Given the description of an element on the screen output the (x, y) to click on. 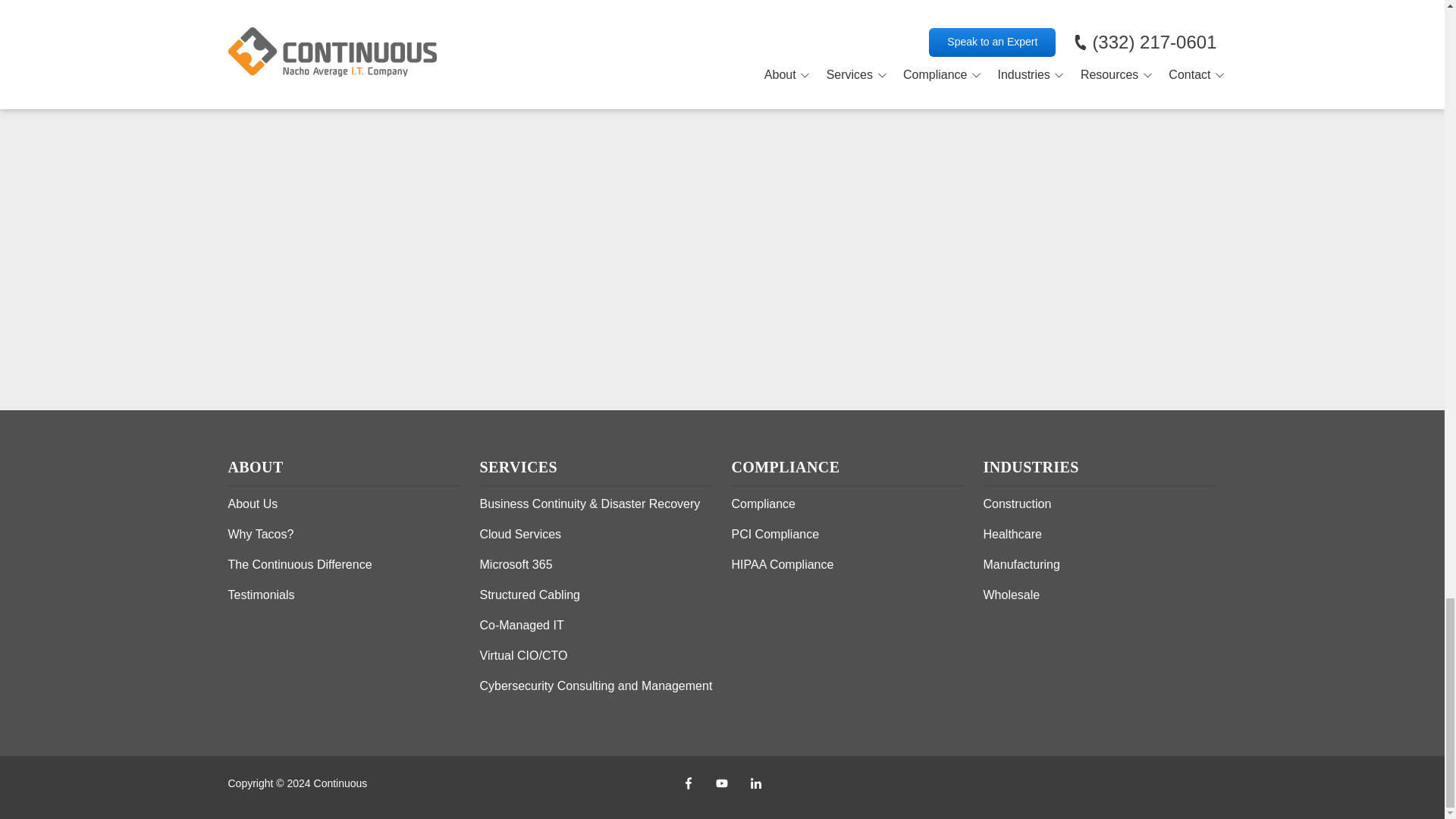
LinkedIn (756, 783)
YouTube (721, 783)
Facebook (687, 783)
